Given the description of an element on the screen output the (x, y) to click on. 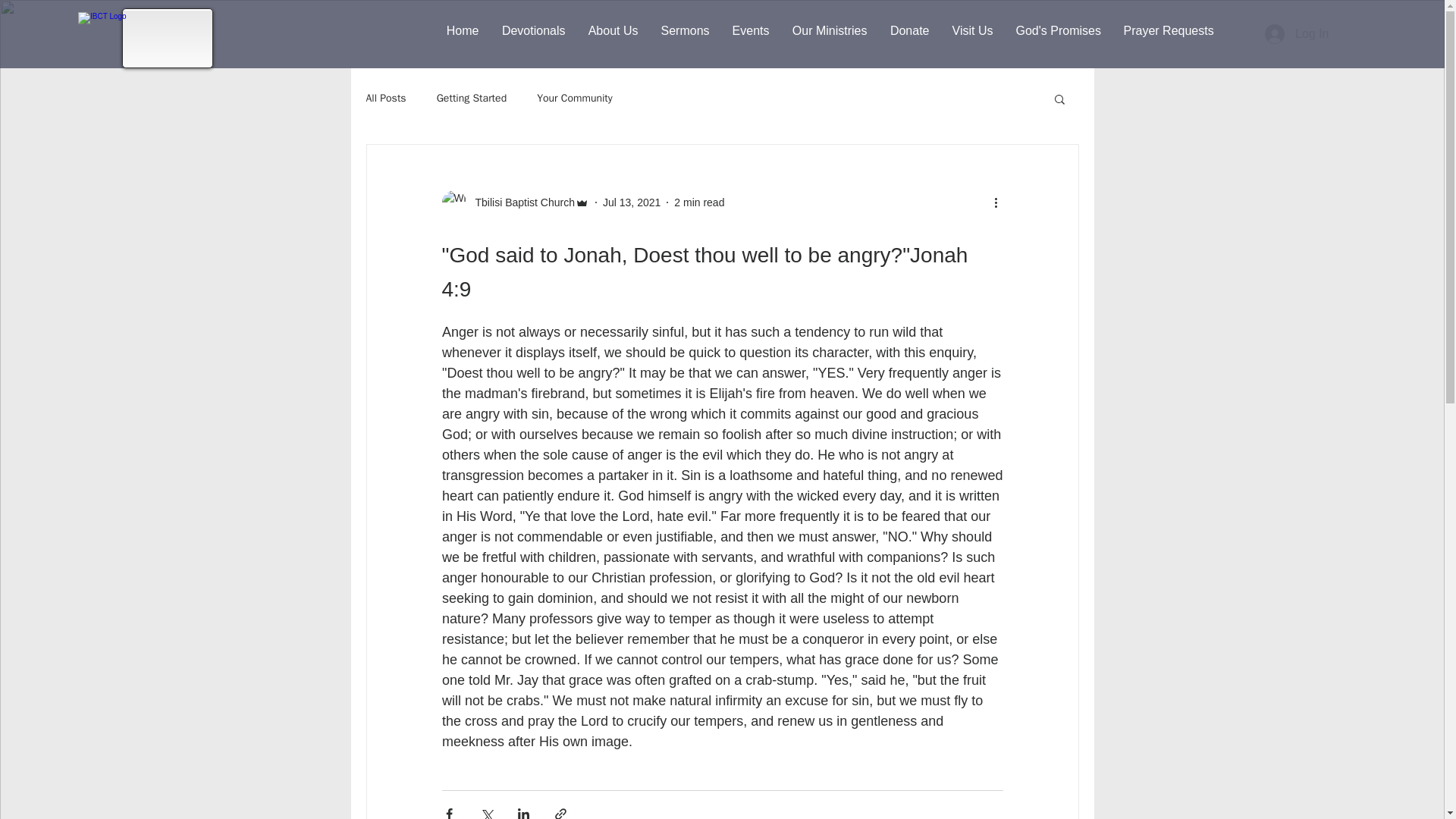
God's Promises (1058, 30)
Visit Us (972, 30)
Devotionals (532, 30)
IBCT Logo (109, 39)
Tbilisi Baptist Church (515, 202)
Prayer Requests (1168, 30)
Home (462, 30)
Donate (908, 30)
Log In (1296, 33)
About Us (612, 30)
Your Community (574, 98)
All Posts (385, 98)
Events (750, 30)
2 min read (698, 201)
Jul 13, 2021 (631, 201)
